Given the description of an element on the screen output the (x, y) to click on. 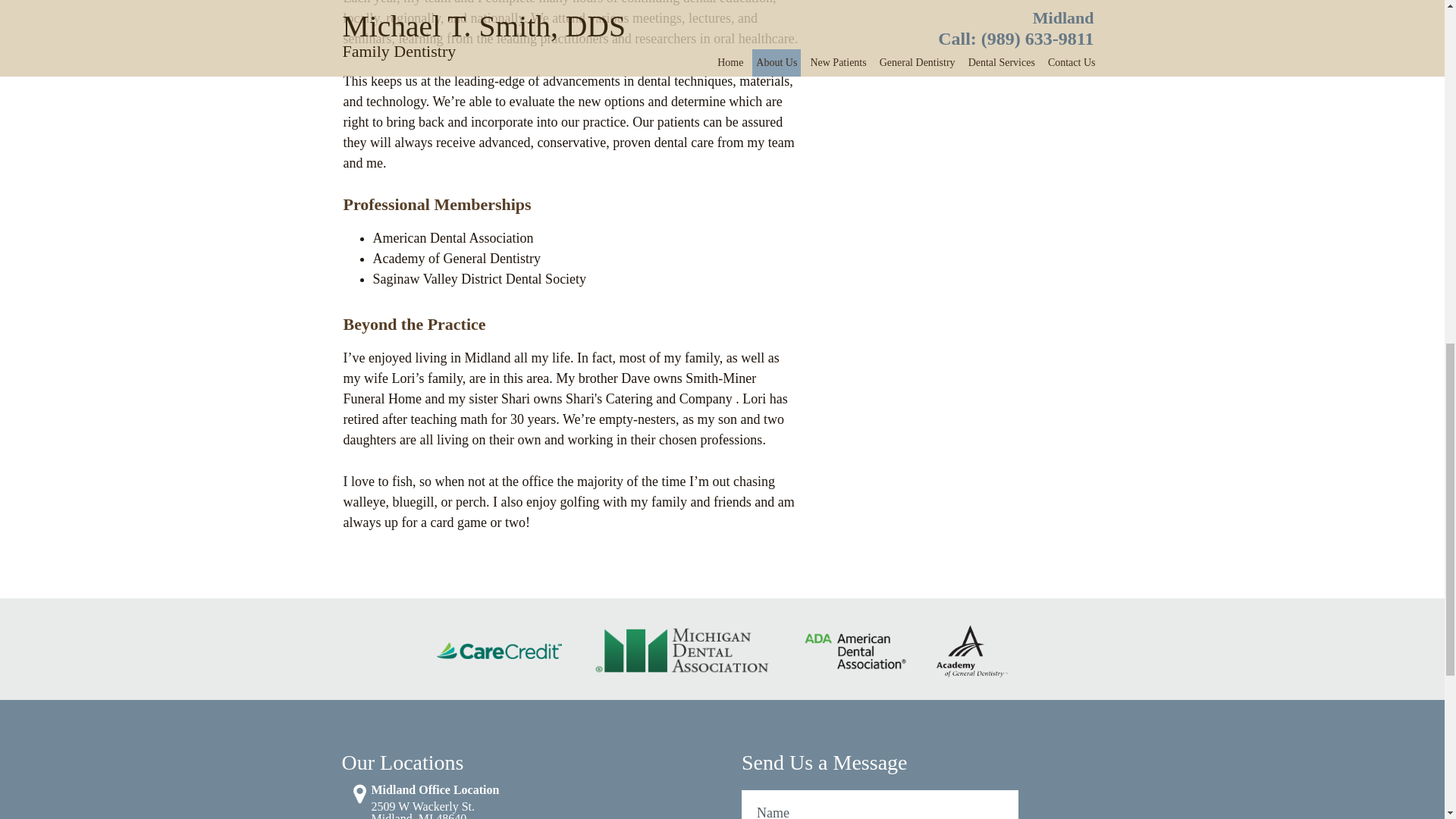
Midland Office Location (450, 809)
